Given the description of an element on the screen output the (x, y) to click on. 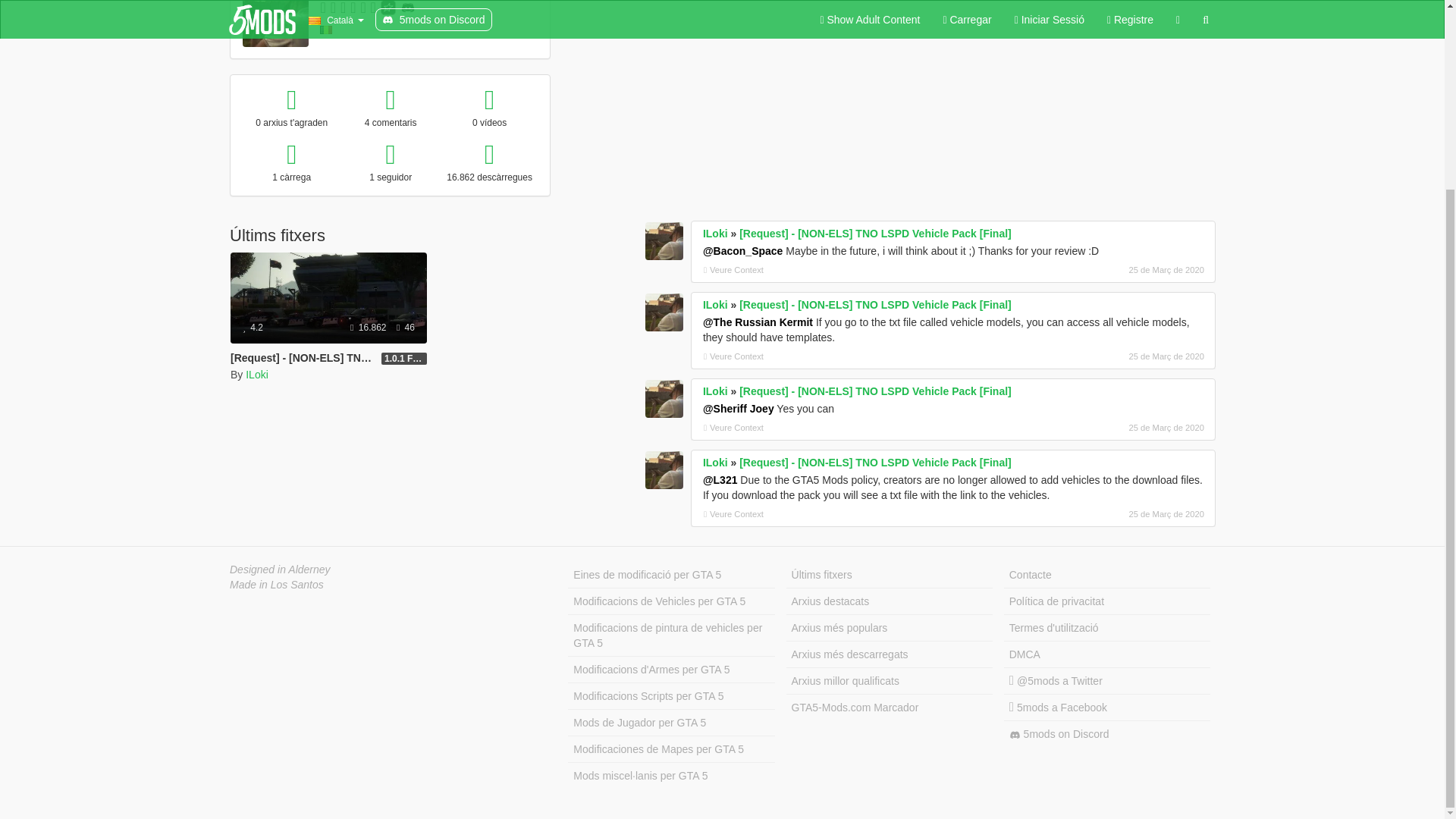
ILoki (256, 374)
Rockstar Games Social Club (388, 7)
1.0.1 Final (403, 358)
46 Agradan (405, 327)
Discord Server (407, 7)
4.2 star rating (253, 327)
